Given the description of an element on the screen output the (x, y) to click on. 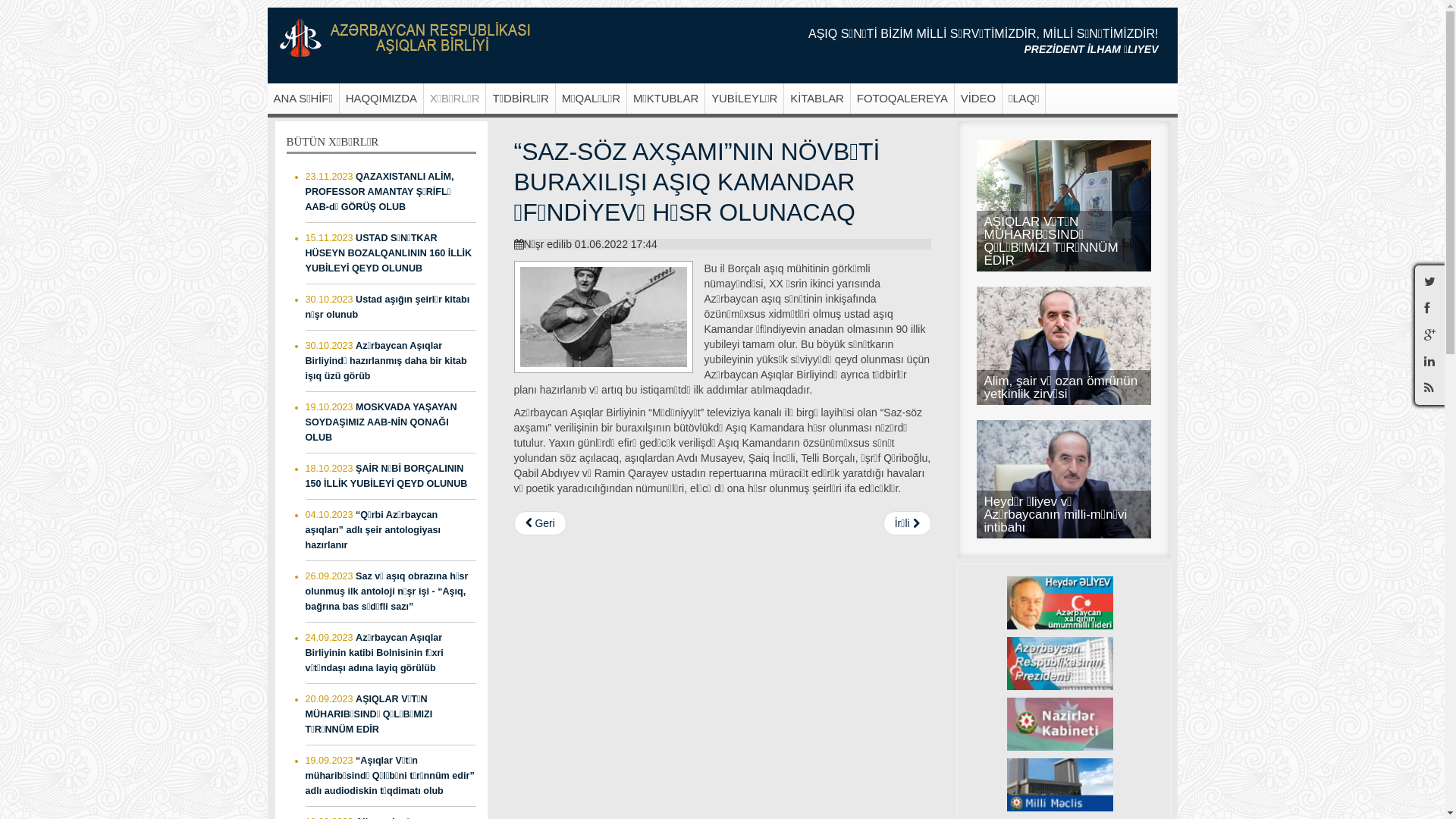
Geri Element type: text (540, 523)
FOTOQALEREYA Element type: text (902, 98)
HAQQIMIZDA Element type: text (381, 98)
Expose Framework for Joomla 2.5 and 3.0+
- Element type: text (404, 37)
